Given the description of an element on the screen output the (x, y) to click on. 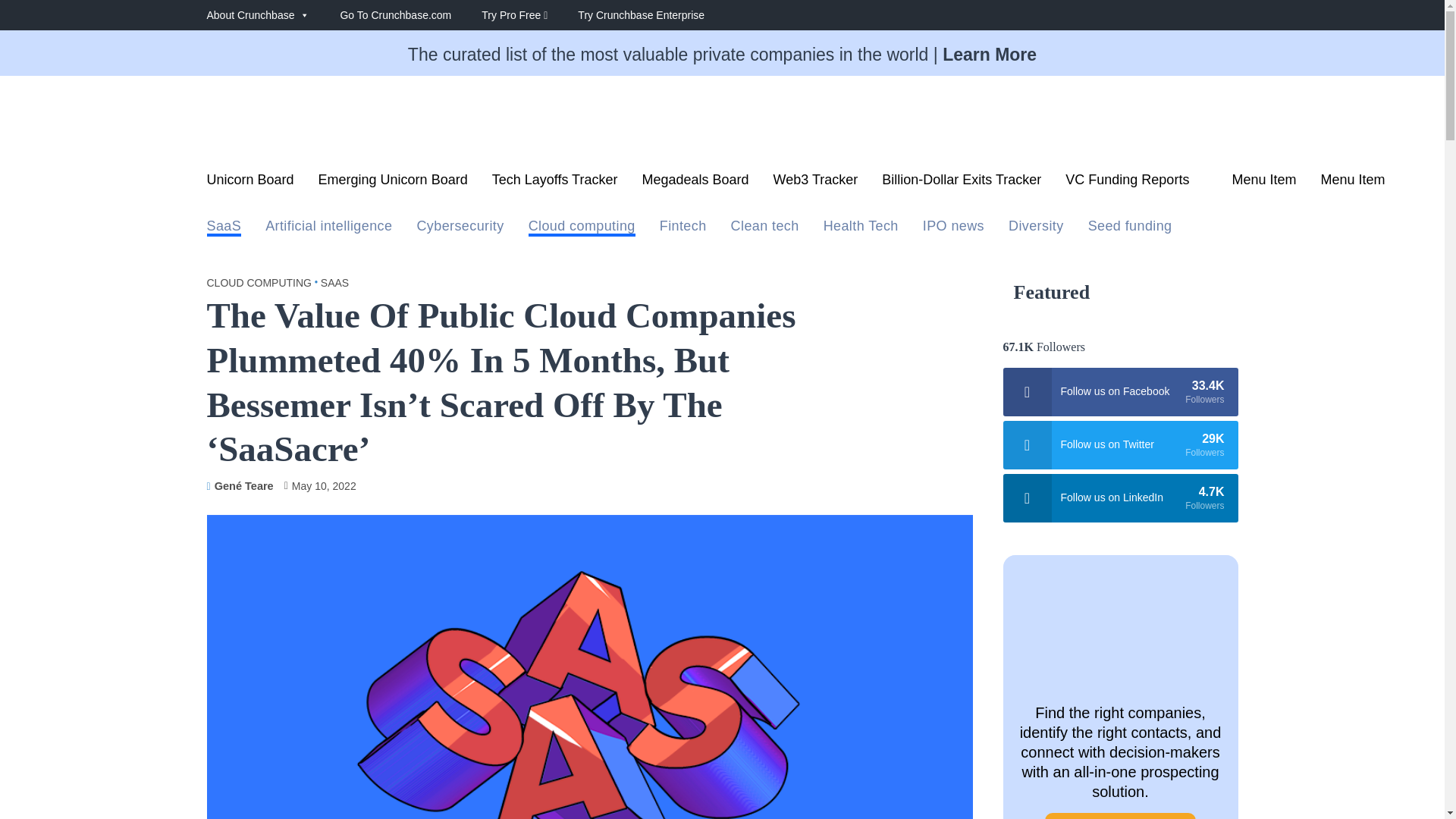
Emerging Unicorn Board (392, 183)
Web3 Tracker (816, 183)
Billion-Dollar Exits Tracker (961, 183)
Unicorn Board (250, 183)
Try Pro Free (529, 15)
Megadeals Board (695, 183)
Tech Layoffs Tracker (554, 183)
Go To Crunchbase.com (410, 15)
VC Funding Reports (1136, 183)
Try Crunchbase Enterprise (656, 15)
About Crunchbase (272, 15)
